Given the description of an element on the screen output the (x, y) to click on. 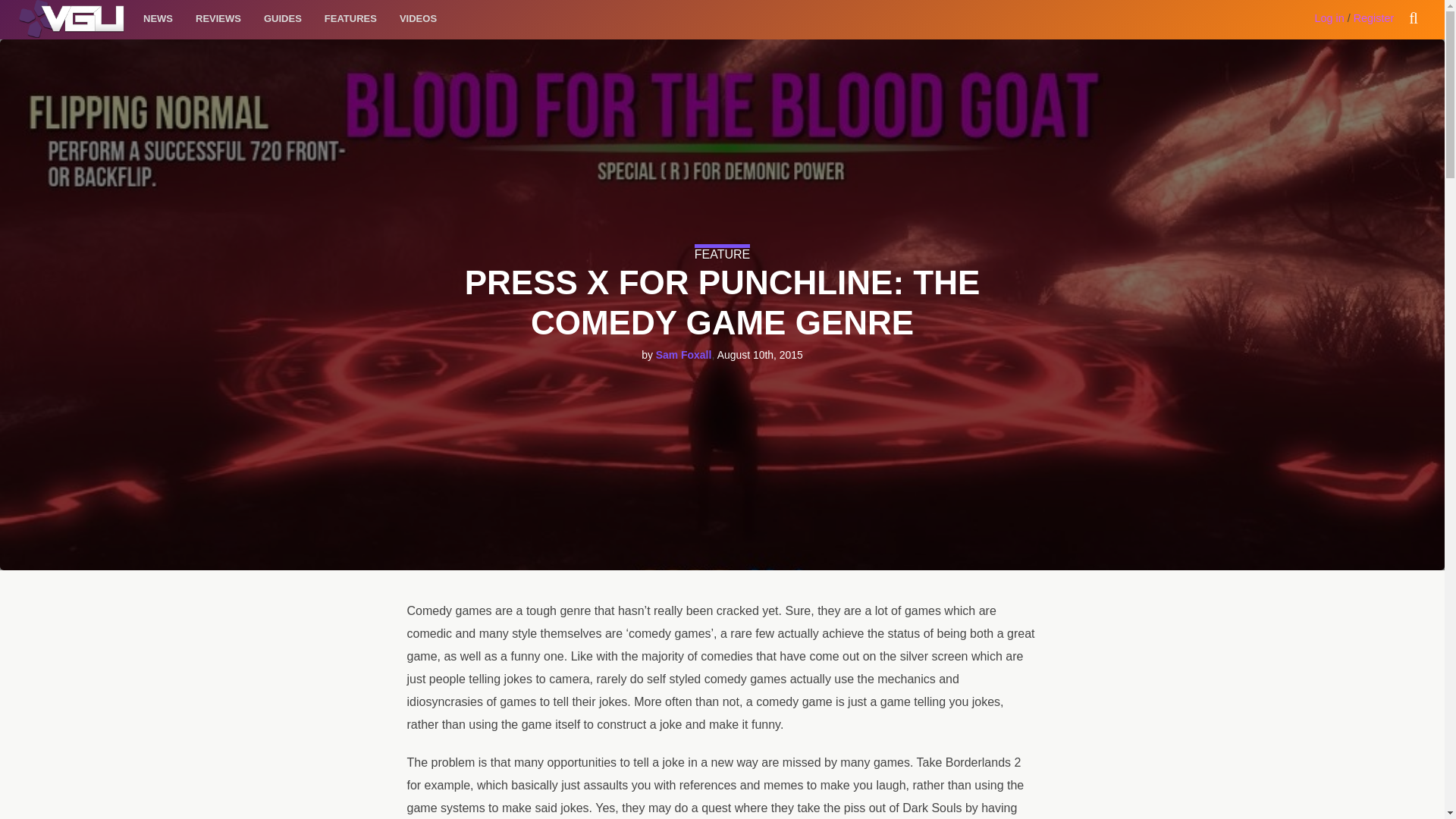
FEATURES (350, 18)
Log in (1328, 18)
GUIDES (282, 18)
Sam Foxall (683, 354)
REVIEWS (217, 18)
Register (1374, 18)
NEWS (158, 18)
VIDEOS (418, 18)
